Given the description of an element on the screen output the (x, y) to click on. 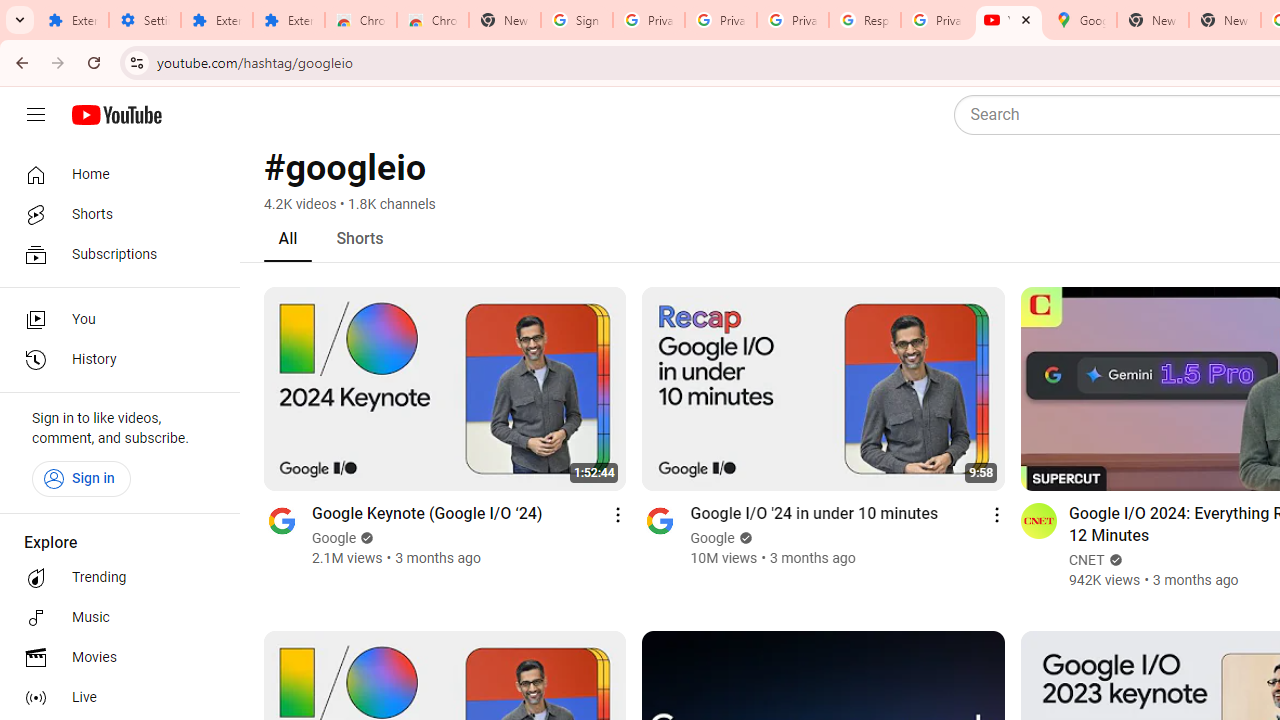
Chrome Web Store (360, 20)
CNET (1086, 560)
History (113, 359)
Google (713, 537)
Settings (144, 20)
Go to channel (1038, 520)
All (287, 238)
Google Maps (1080, 20)
Live (113, 697)
Action menu (996, 513)
